Given the description of an element on the screen output the (x, y) to click on. 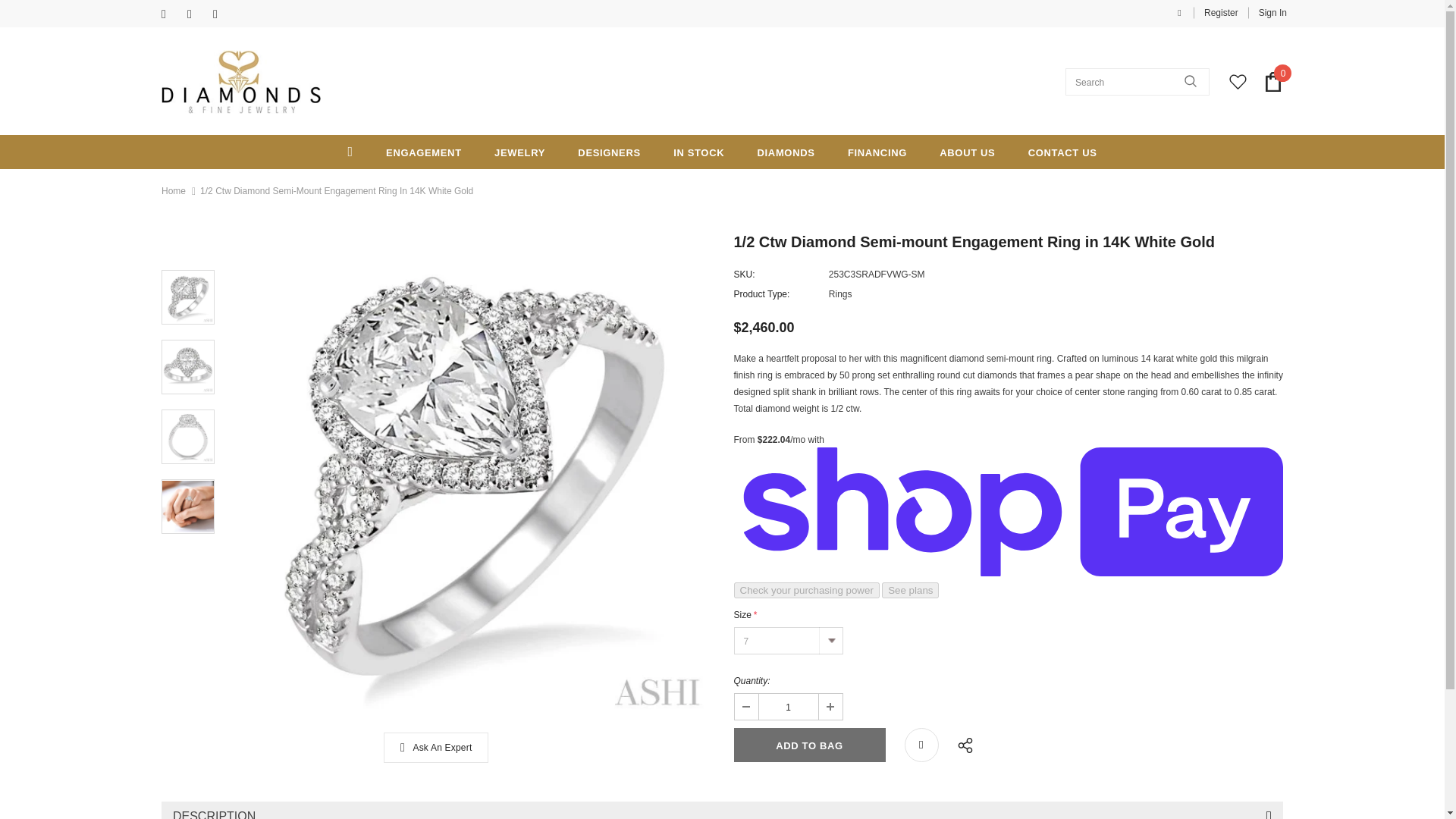
1 (787, 706)
Instagram (221, 14)
Add to Bag (809, 745)
Register (1221, 12)
Facebook (170, 14)
Sign In (1267, 12)
Twitter (196, 14)
